Given the description of an element on the screen output the (x, y) to click on. 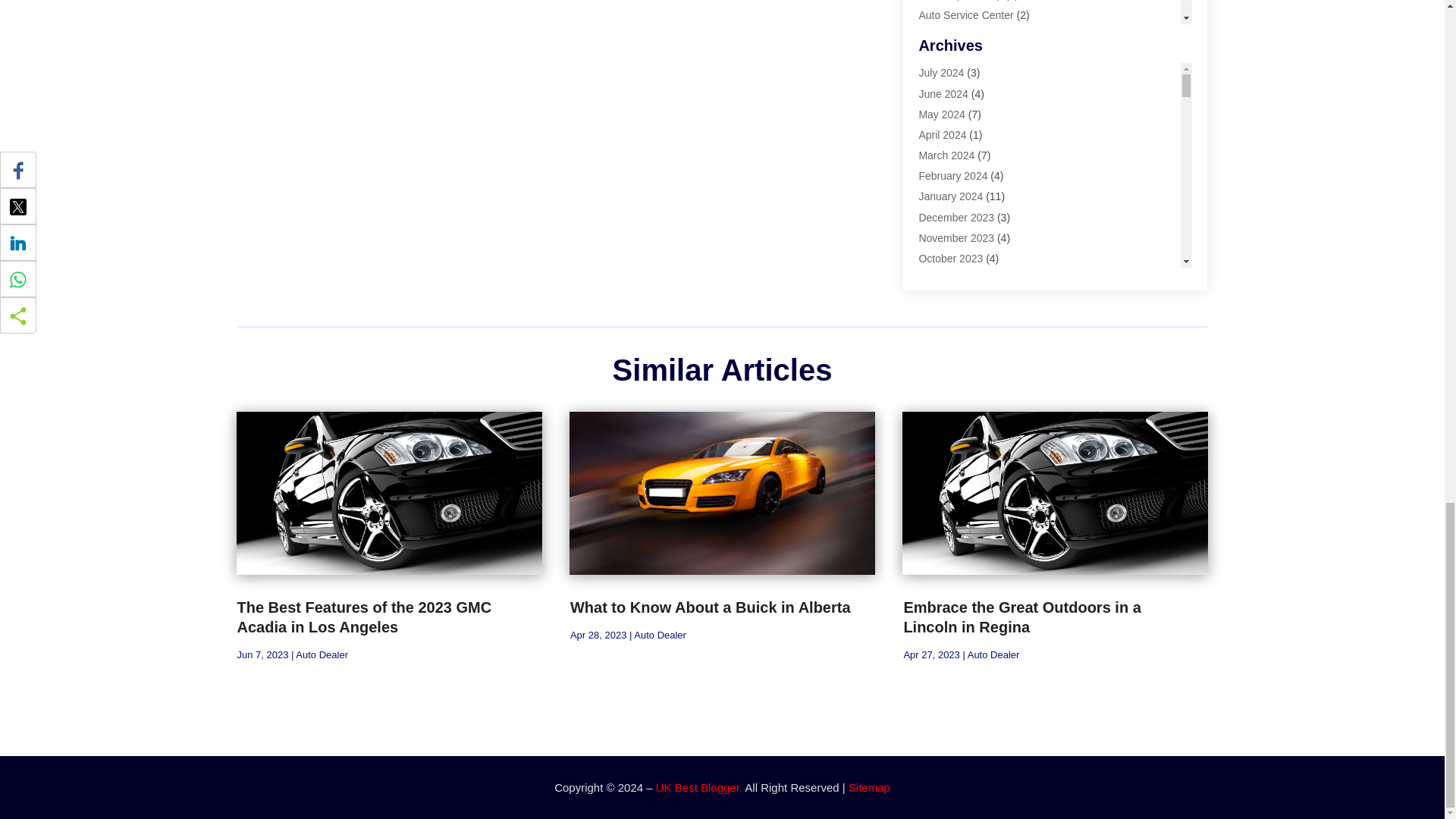
Automobile (944, 55)
Auto Service Center (965, 15)
Automobiles (947, 77)
Automotive (944, 97)
Auto-Products (951, 35)
